Given the description of an element on the screen output the (x, y) to click on. 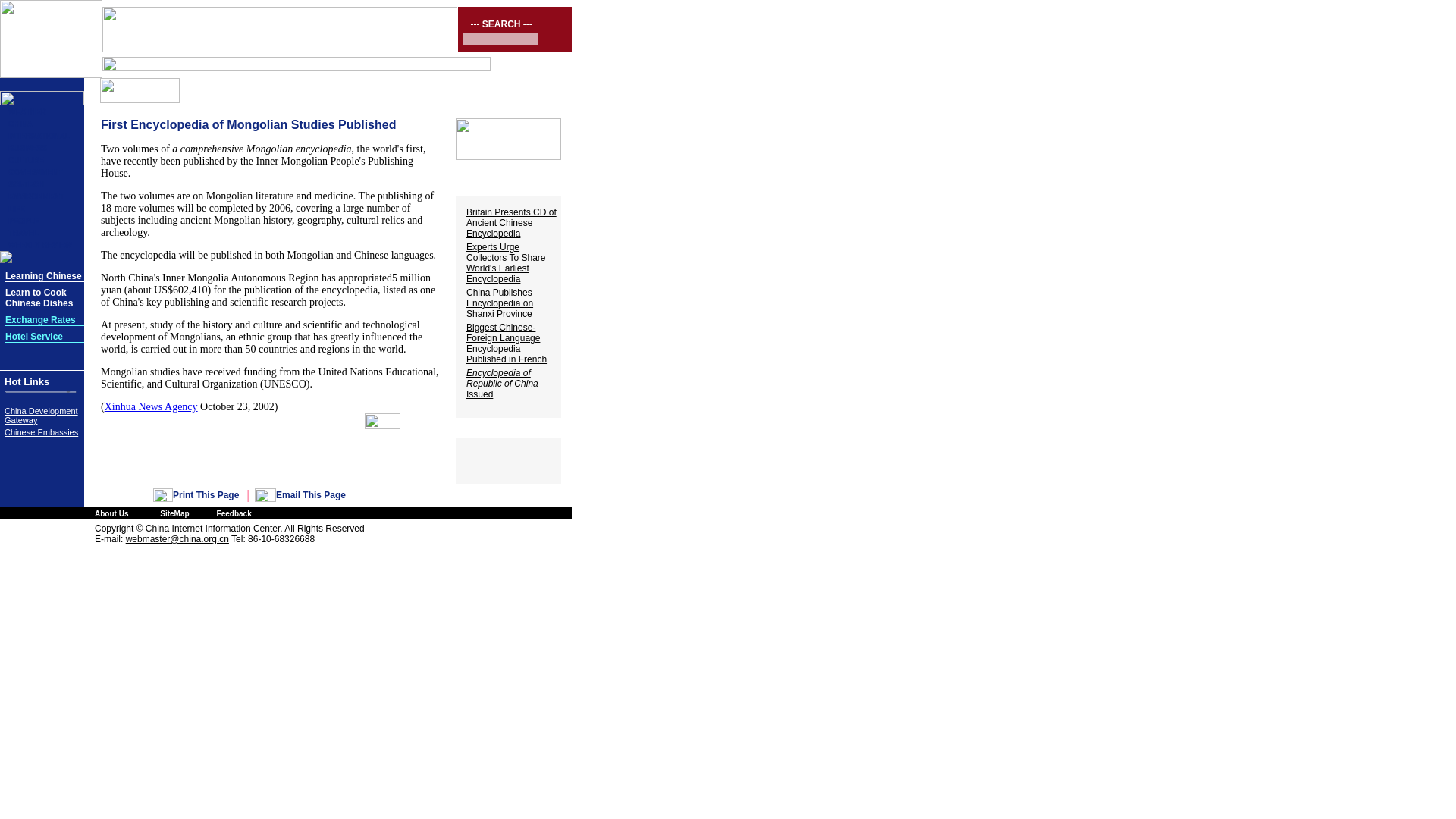
Exchange Rates (40, 319)
Email This Page (311, 494)
CHINA (20, 123)
Xinhua News Agency (151, 406)
BUSINESS (27, 148)
Learning Chinese (43, 275)
China Development Gateway (41, 415)
China Publishes Encyclopedia on Shanxi Province (498, 303)
INTERNATIONAL (38, 135)
LIFE (16, 208)
CULTURE (25, 160)
Feedback (233, 513)
Learn to Cook Chinese Dishes (38, 298)
